Given the description of an element on the screen output the (x, y) to click on. 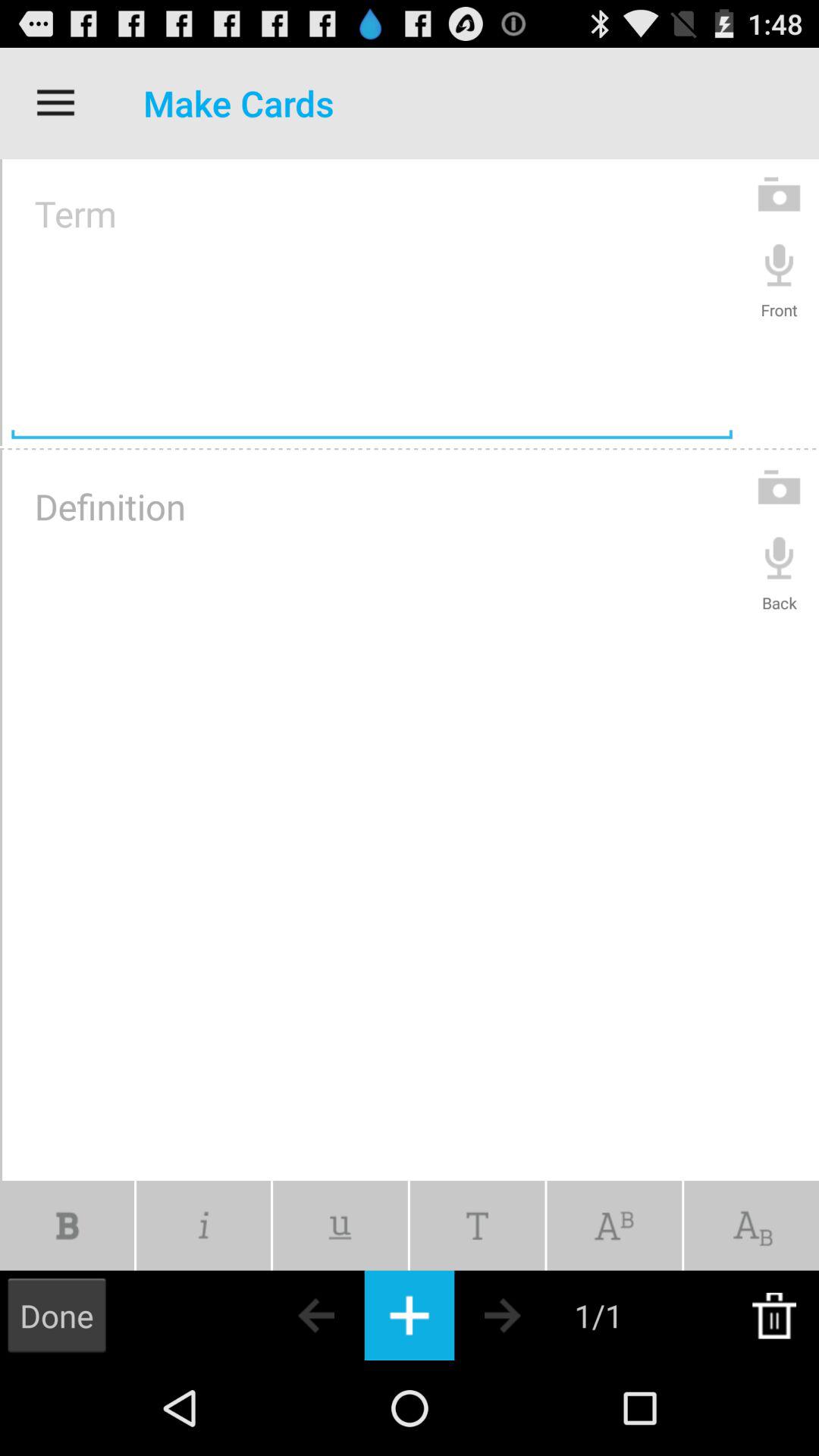
go abck (289, 1315)
